Given the description of an element on the screen output the (x, y) to click on. 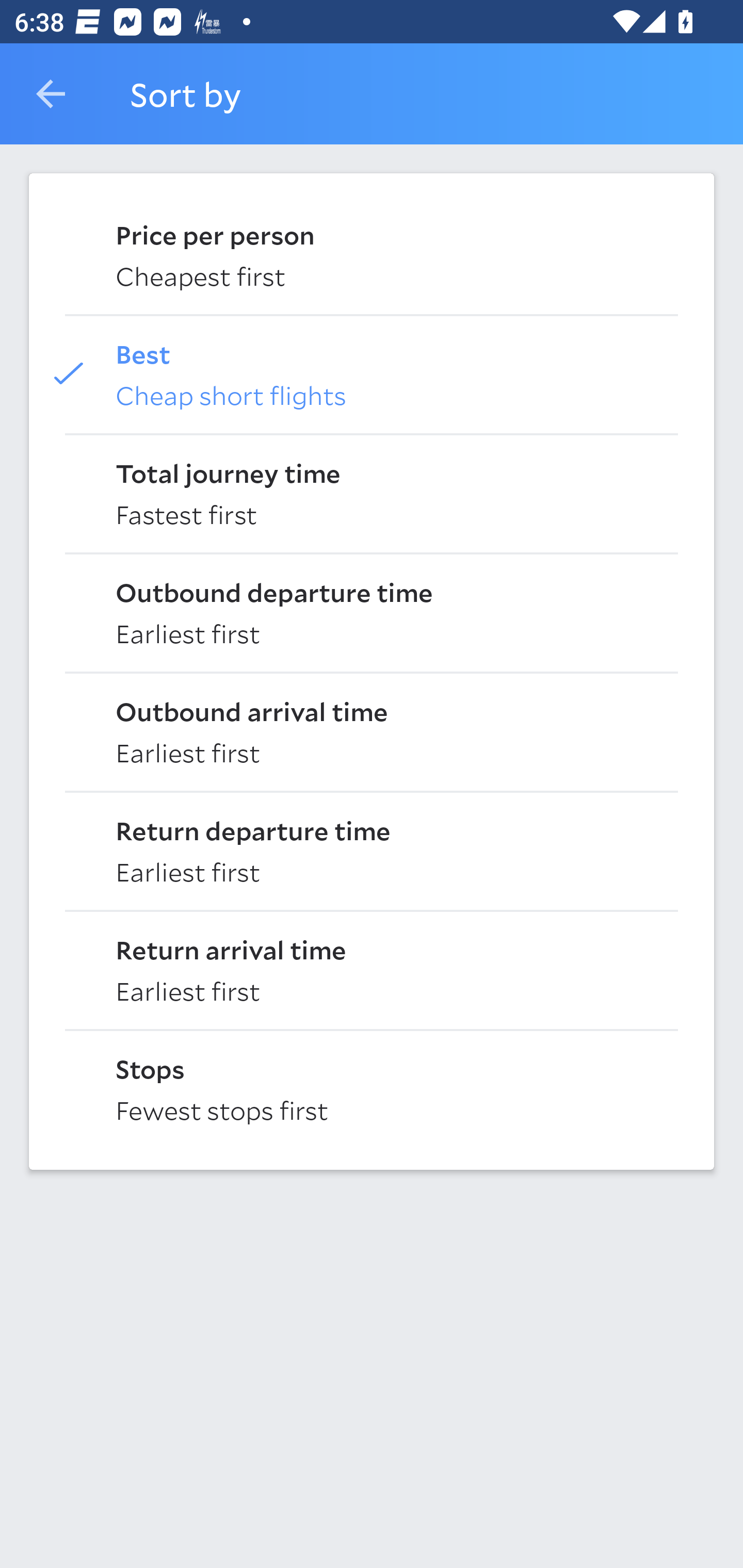
Navigate up (50, 93)
Price per person Cheapest first (371, 253)
Best Cheap short flights (371, 372)
Total journey time Fastest first (371, 491)
Outbound departure time Earliest first (371, 611)
Outbound arrival time Earliest first (371, 730)
Return departure time Earliest first (371, 849)
Return arrival time Earliest first (371, 968)
Stops Fewest stops first (371, 1087)
